Given the description of an element on the screen output the (x, y) to click on. 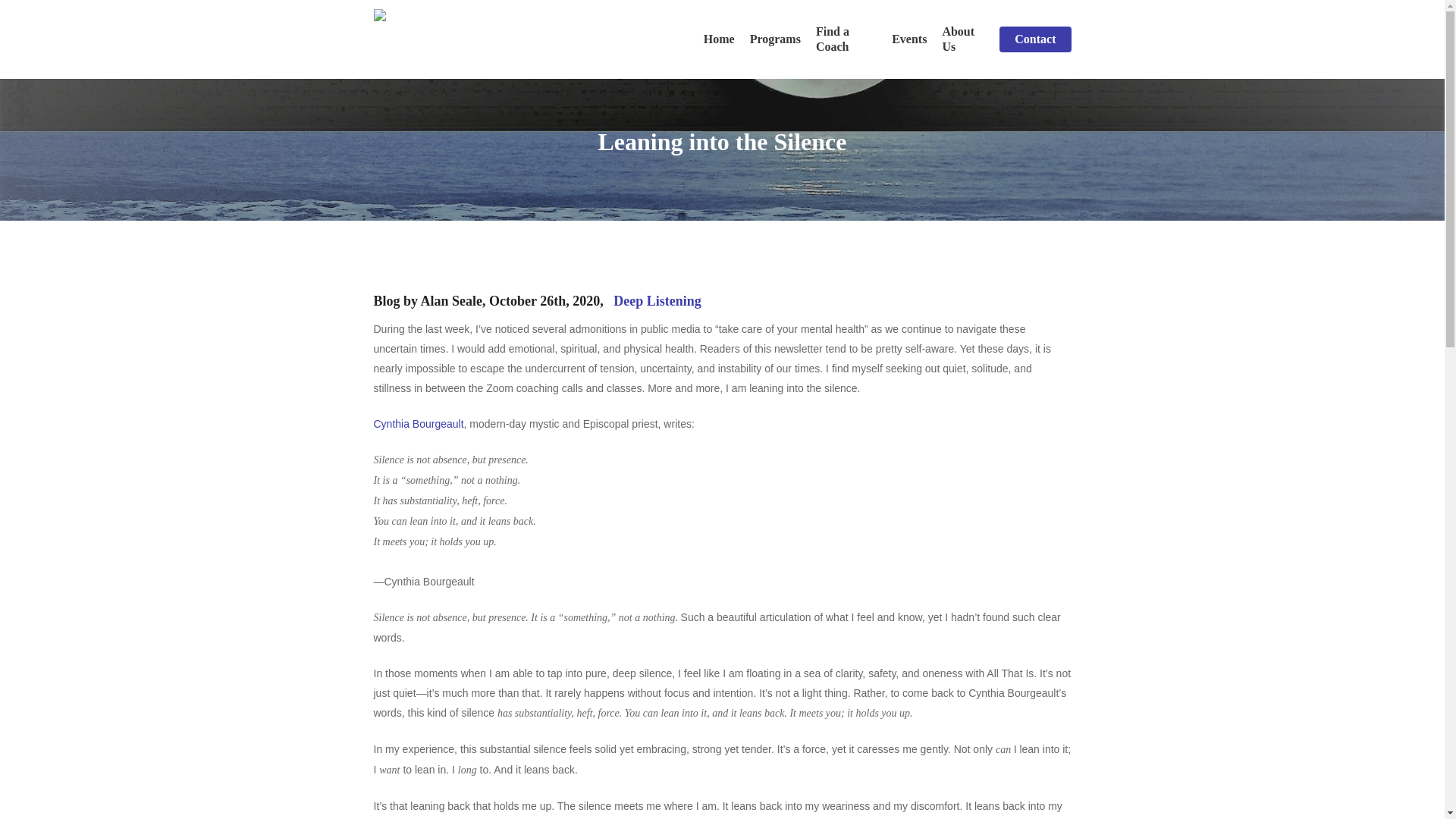
About Us (963, 39)
Contact (1034, 38)
Deep Listening (656, 300)
Find a Coach (845, 39)
Cynthia Bourgeault (417, 423)
Events (908, 38)
Home (719, 38)
Programs (774, 38)
